Given the description of an element on the screen output the (x, y) to click on. 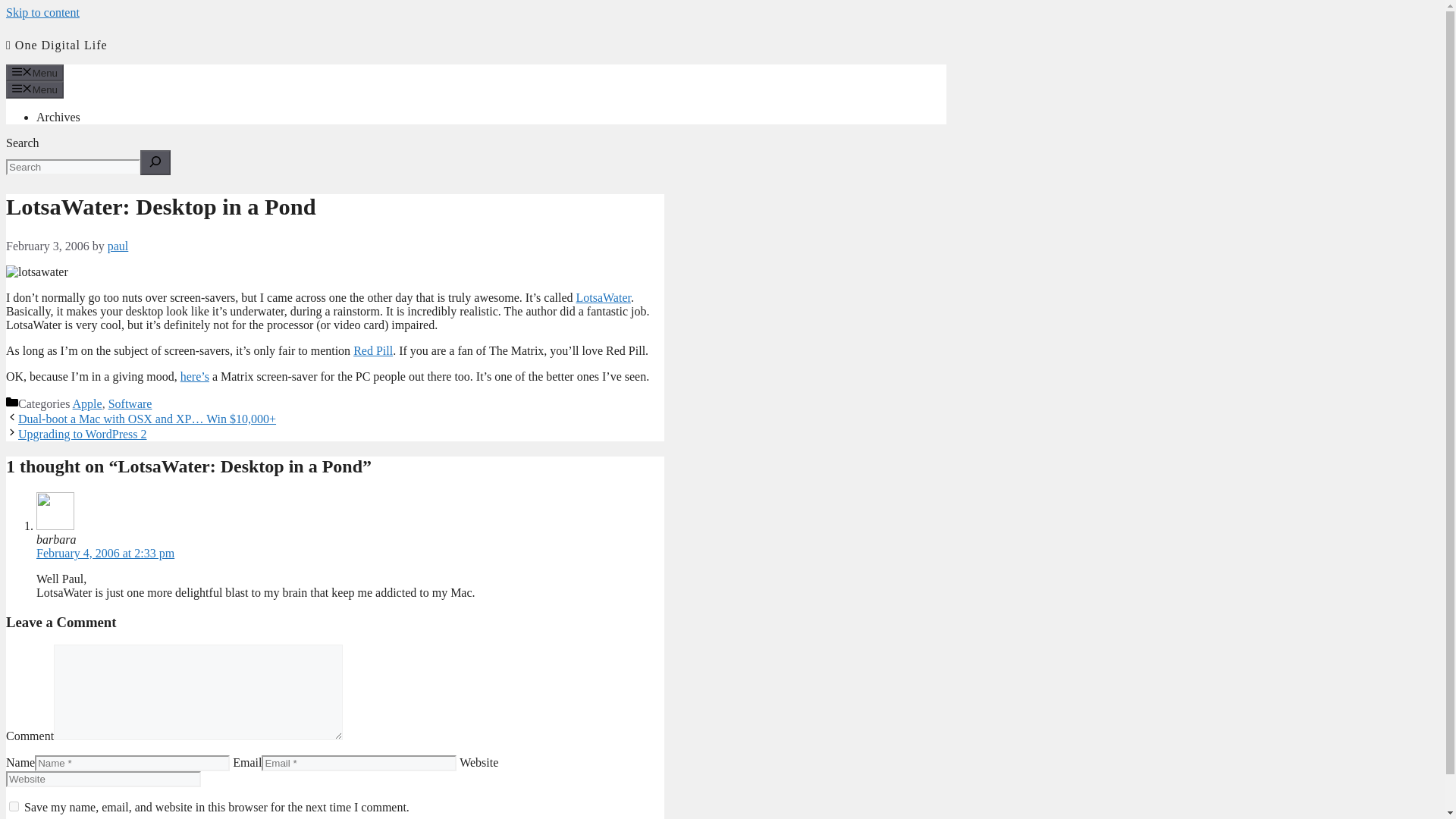
View all posts by paul (118, 245)
Red Pill (373, 350)
February 4, 2006 at 2:33 pm (105, 553)
Software (129, 403)
paul (118, 245)
Menu (34, 89)
Skip to content (42, 11)
Menu (34, 72)
Upgrading to WordPress 2 (82, 433)
Apple (86, 403)
